Given the description of an element on the screen output the (x, y) to click on. 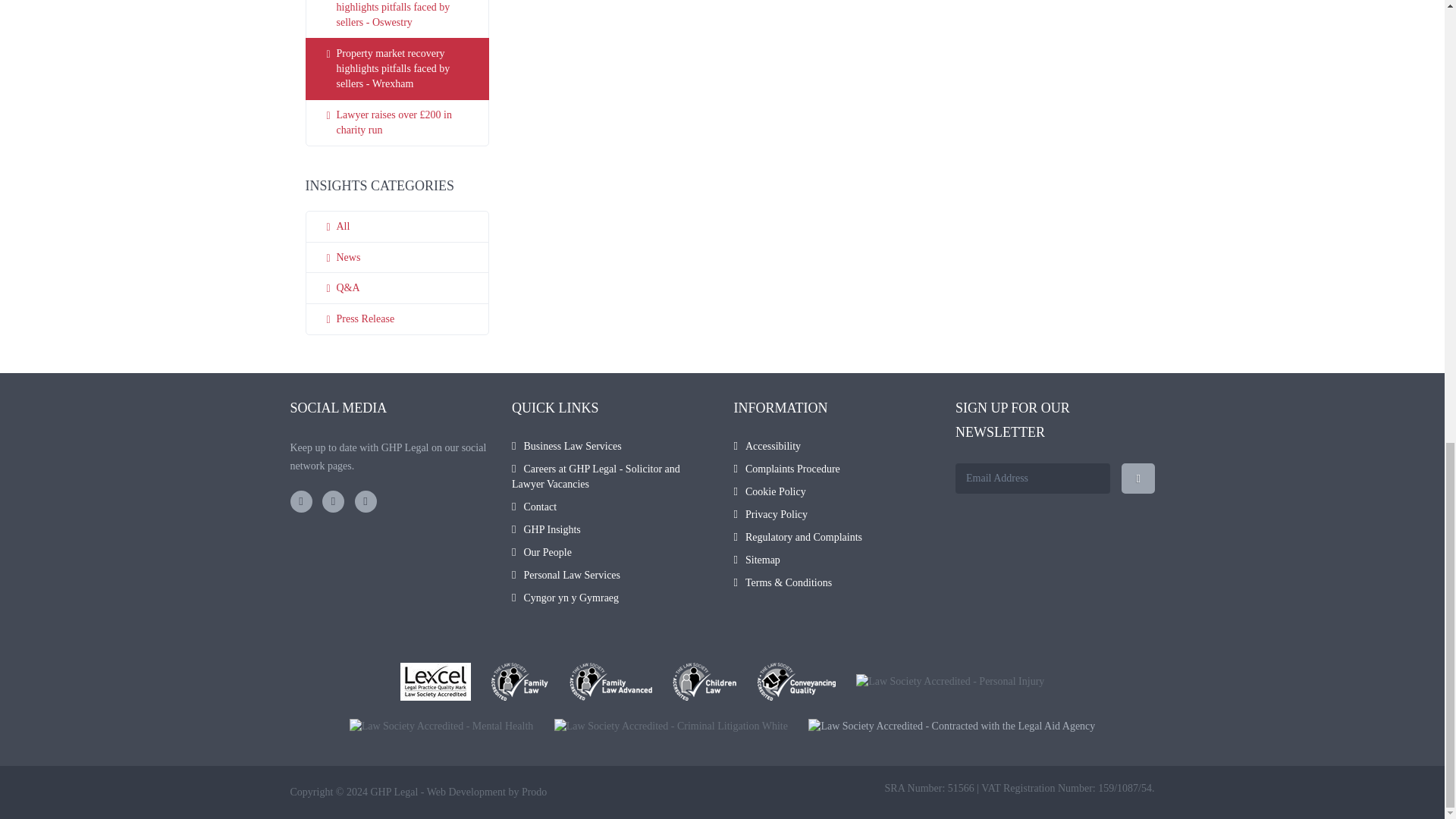
Law Society Accredited - Personal Injury (949, 681)
Law Society Accredited - Mental Health (441, 726)
Like us on Facebook (300, 501)
Law Society Accredited - Family Advanced (610, 681)
Law Society Accredited - Lexcel (435, 681)
Follow us on LinkedIn (366, 501)
Law Society Accredited - Family Law (520, 681)
Law Society Accredited - Criminal Litigation White (670, 726)
Law Society Accredited - Children Law (704, 681)
